Given the description of an element on the screen output the (x, y) to click on. 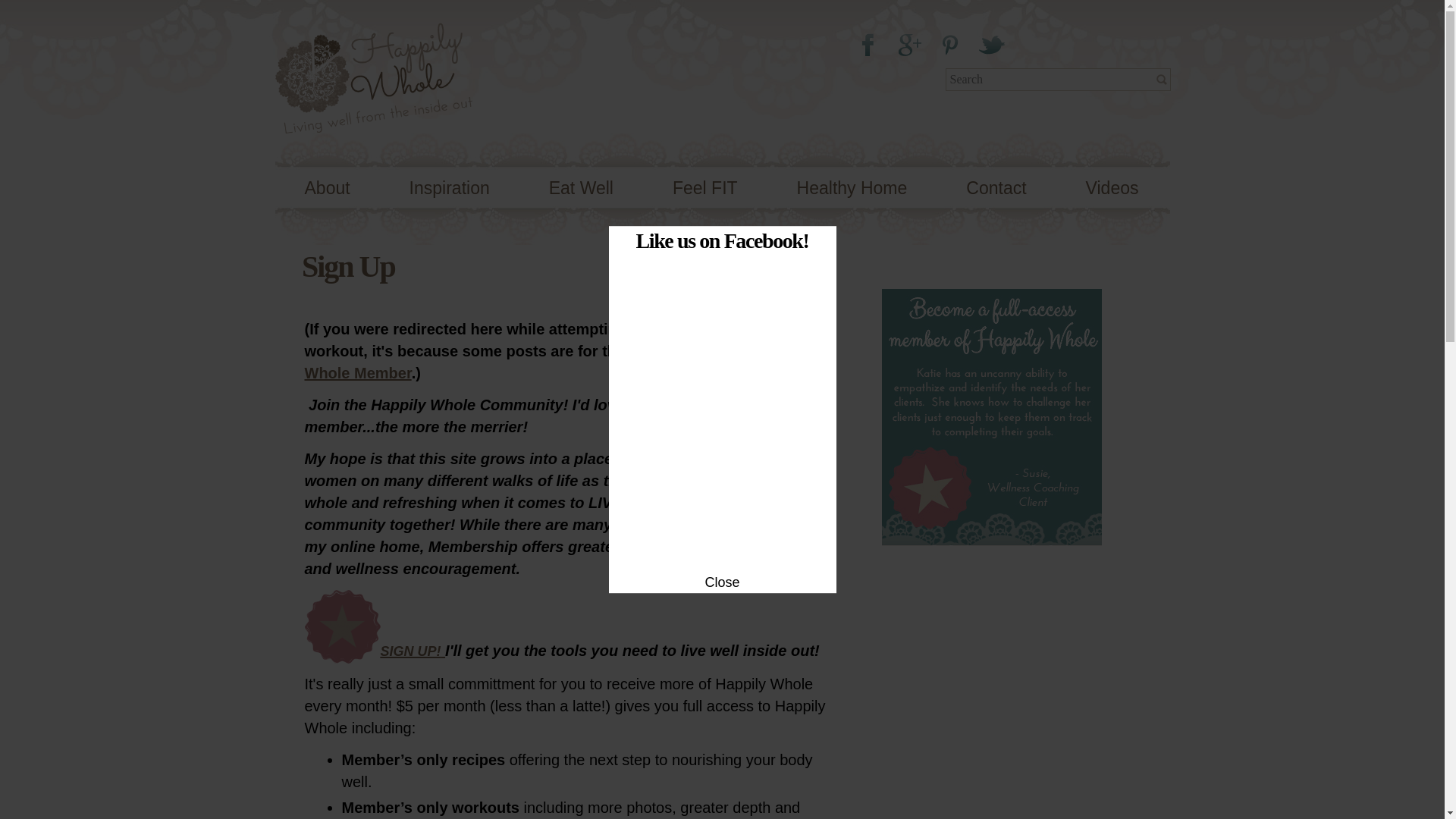
Skip to main content (680, 1)
Contact (995, 188)
Happily Whole (373, 122)
Facebook (869, 44)
Twitter (995, 44)
Videos (1111, 188)
Feel FIT (704, 188)
Pinterest (949, 44)
About (327, 188)
Inspiration (449, 188)
Eat Well (580, 188)
membership checkout (342, 650)
Healthy Home (852, 188)
